Given the description of an element on the screen output the (x, y) to click on. 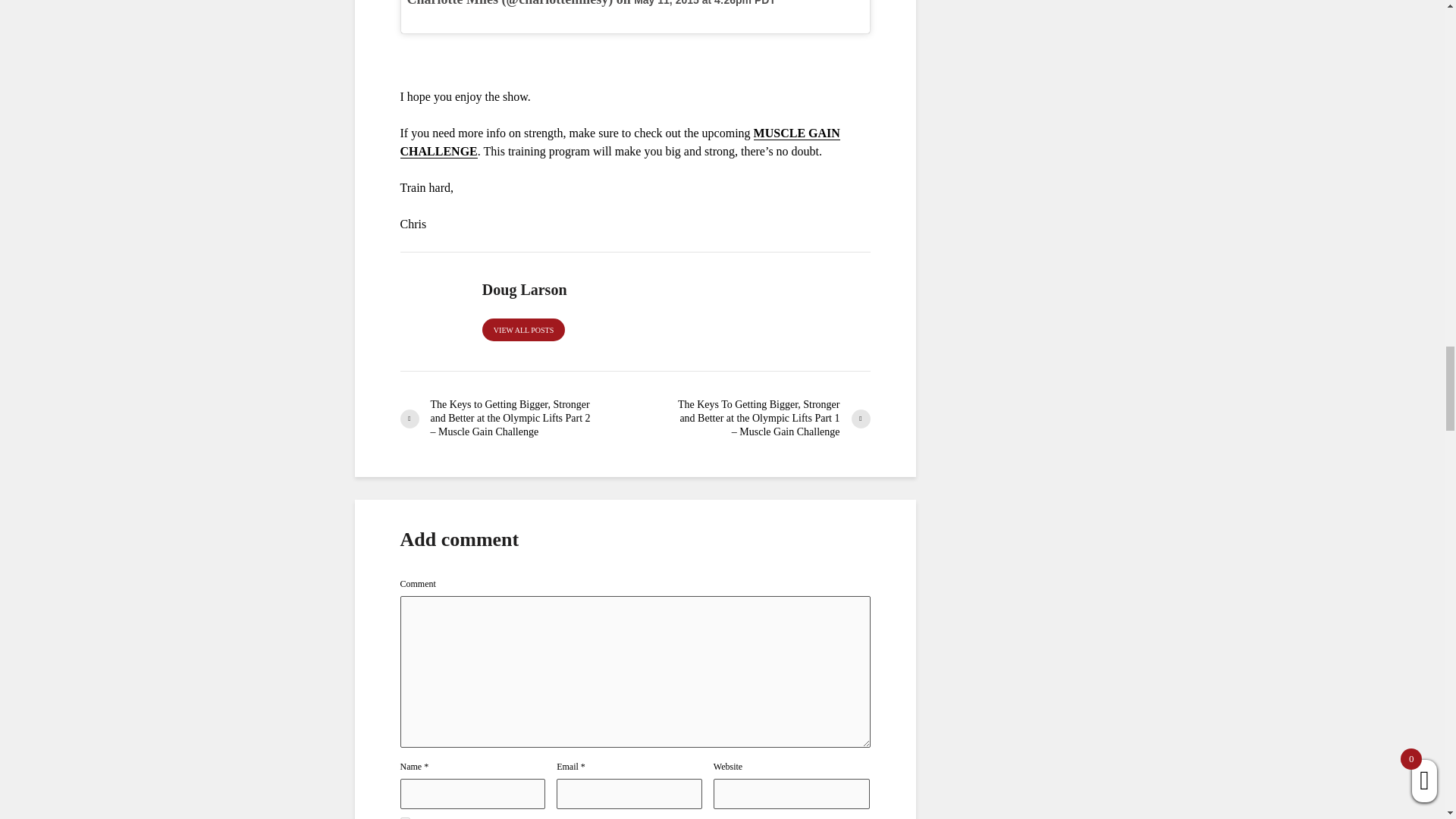
VIEW ALL POSTS (522, 329)
MUSCLE GAIN CHALLENGE (620, 142)
